Given the description of an element on the screen output the (x, y) to click on. 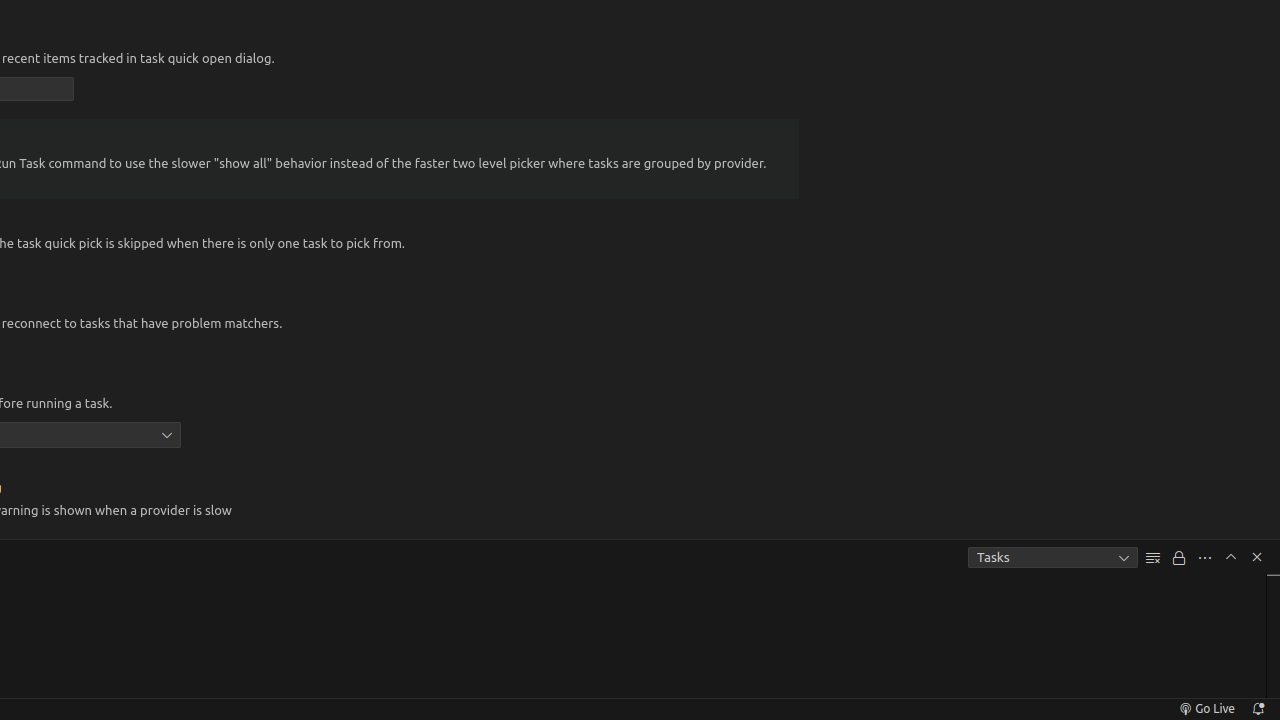
Turn Auto Scrolling Off Element type: check-box (1179, 557)
Notifications Element type: push-button (1258, 709)
broadcast Go Live, Click to run live server Element type: push-button (1206, 709)
Maximize Panel Size Element type: check-box (1231, 557)
Views and More Actions... Element type: push-button (1205, 557)
